Given the description of an element on the screen output the (x, y) to click on. 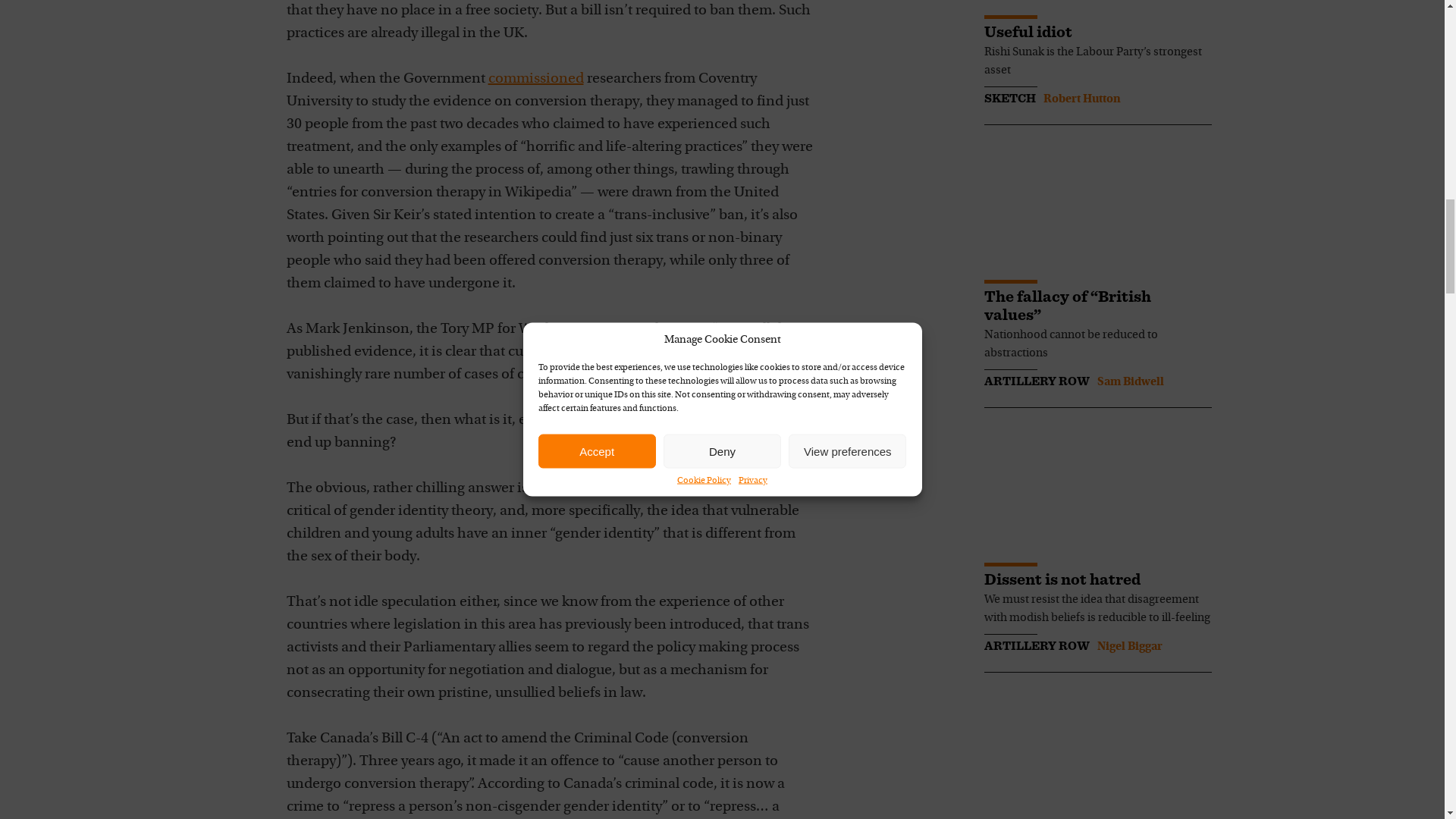
Posts by Nigel Biggar (1128, 646)
Posts by Sam Bidwell (1129, 381)
Posts by Robert Hutton (1082, 99)
